Given the description of an element on the screen output the (x, y) to click on. 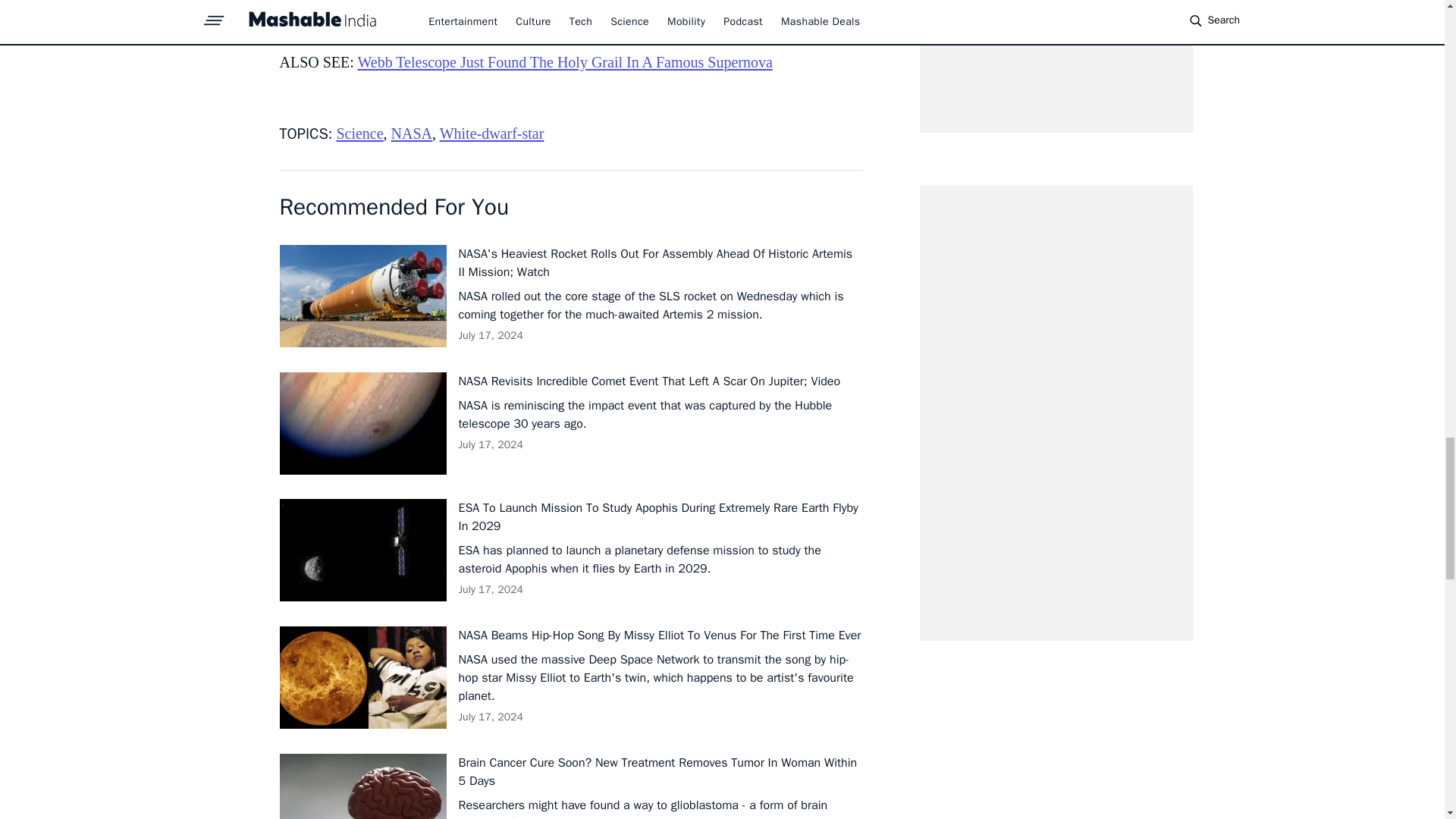
NASA (411, 133)
White-dwarf-star (491, 133)
Science (359, 133)
